Given the description of an element on the screen output the (x, y) to click on. 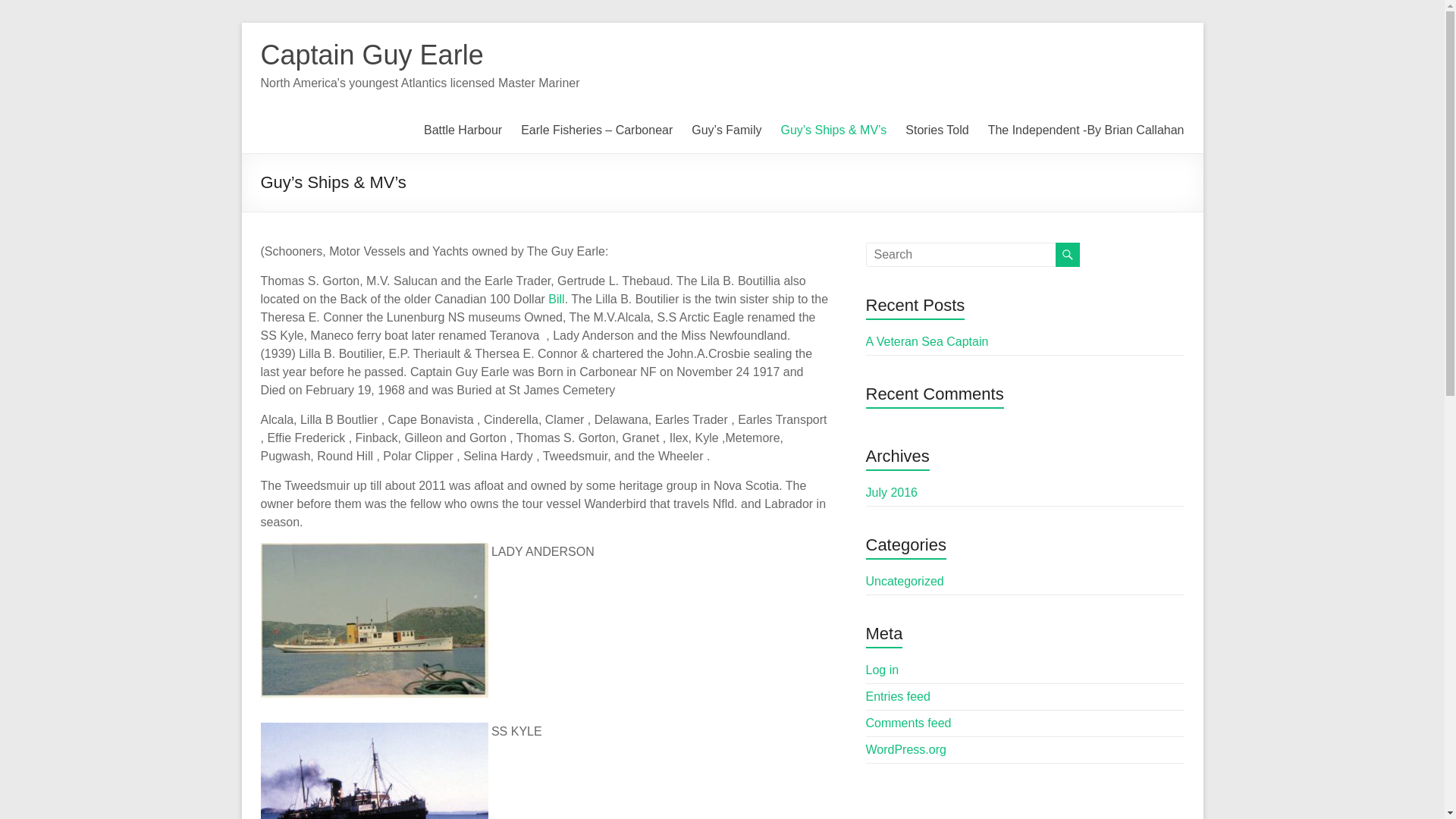
Comments feed (909, 722)
Captain Guy Earle (371, 54)
Uncategorized (904, 581)
A Veteran Sea Captain (927, 341)
Battle Harbour (462, 129)
Log in (882, 669)
Stories Told (936, 129)
Bill (556, 298)
The Independent -By Brian Callahan (1086, 129)
